Given the description of an element on the screen output the (x, y) to click on. 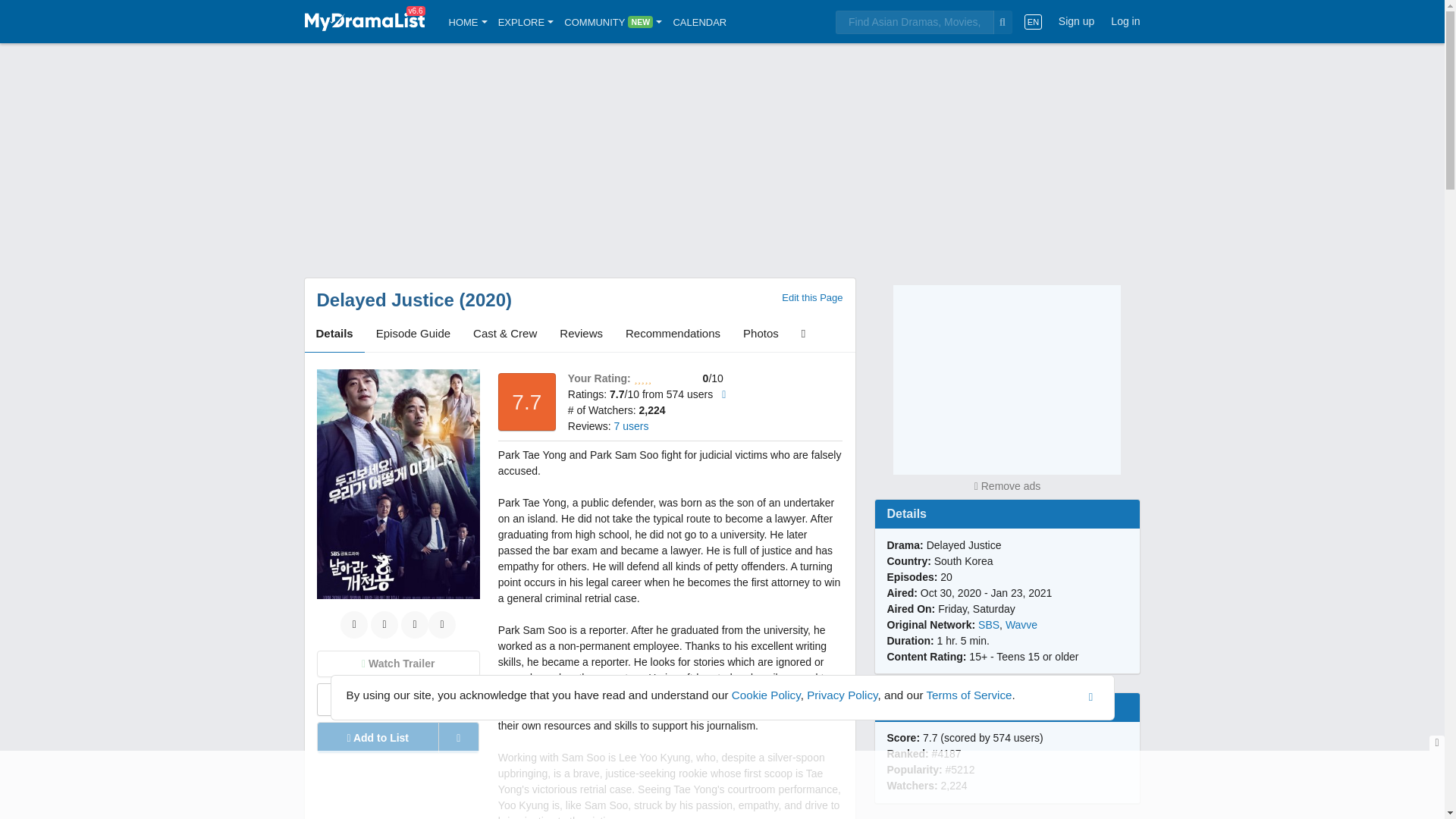
Delayed Justice (385, 299)
v6.6 (364, 21)
HOME (467, 21)
